Given the description of an element on the screen output the (x, y) to click on. 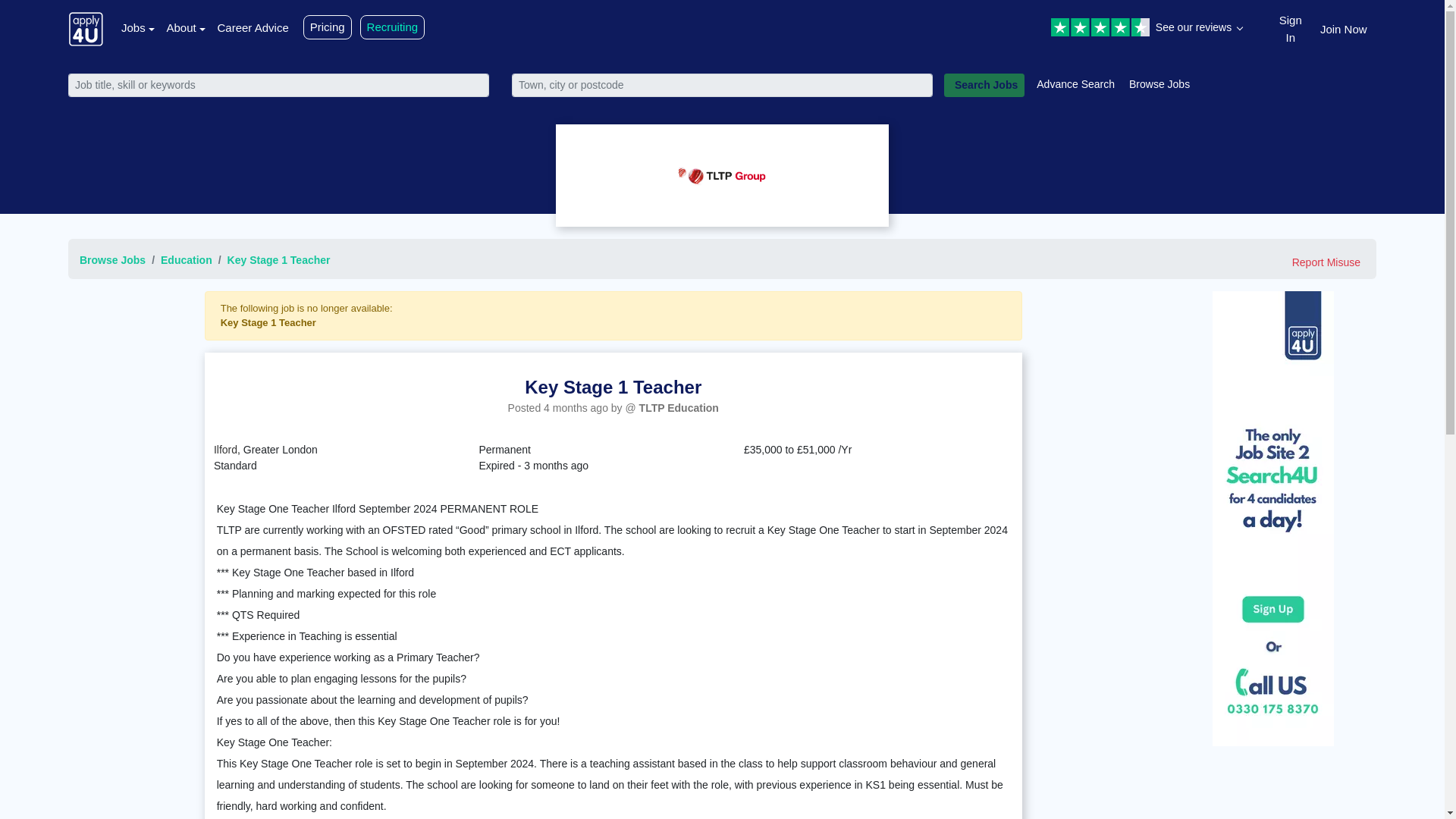
TLTP Education (679, 408)
Browse Jobs (1160, 83)
Sign In (1290, 27)
Key Stage 1 Teacher (278, 259)
Search Jobs (984, 85)
About (185, 27)
Browse Jobs (112, 259)
Jobs (137, 27)
Key Stage 1 Teacher Job (613, 387)
Pricing (327, 27)
Career Advice (253, 27)
Join Now (1343, 27)
Report Misuse (1326, 262)
